Given the description of an element on the screen output the (x, y) to click on. 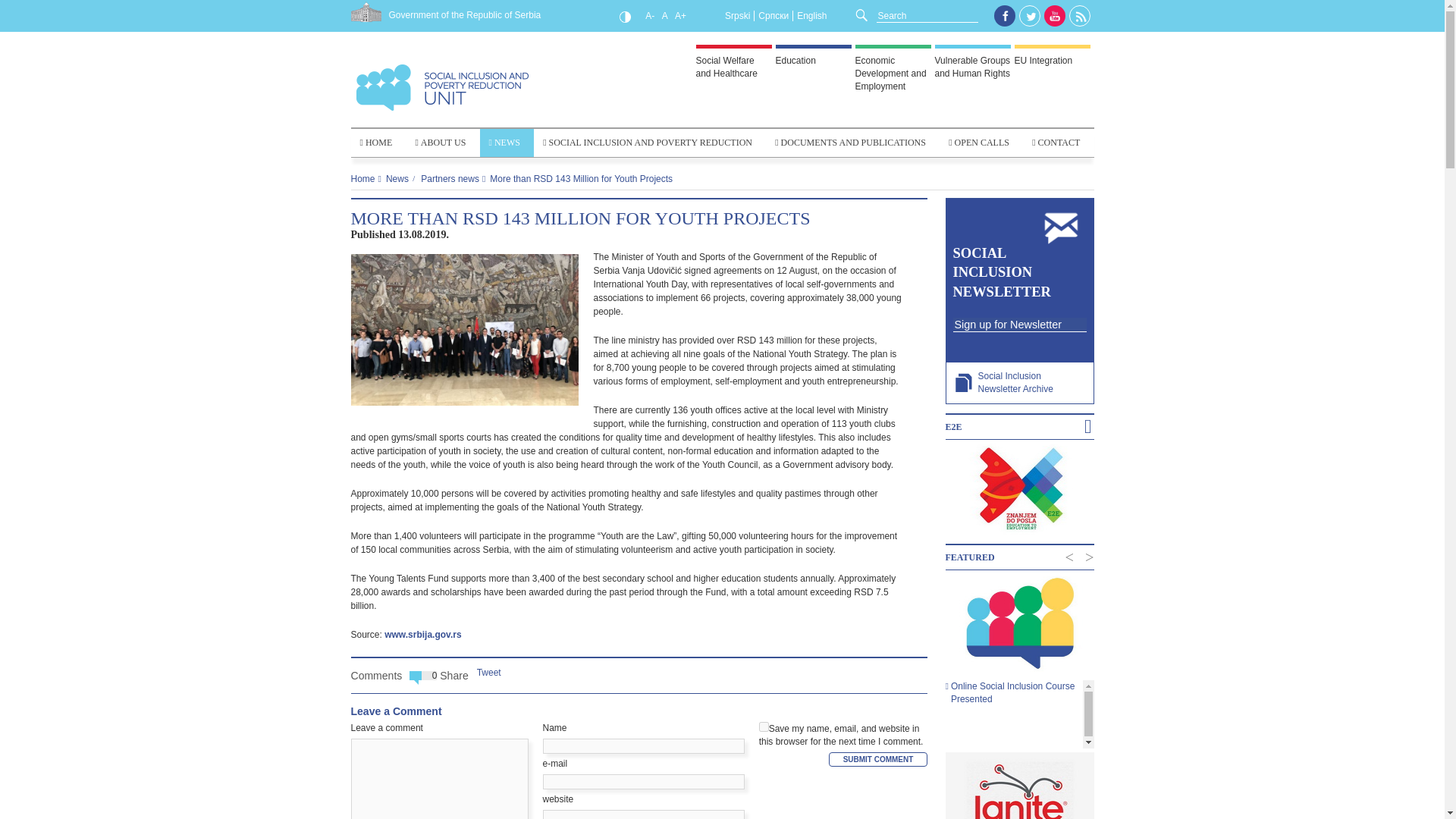
Facebook (1003, 15)
YouTube (1053, 15)
yes (763, 726)
English (811, 15)
Srpski (737, 15)
Education (794, 60)
Social Welfare and Healthcare (726, 66)
Twitter (1030, 16)
RSS (1079, 16)
HOME (378, 142)
NEWS (507, 142)
More than RSD 143 Million for Youth Projects (579, 218)
ABOUT US (442, 142)
Government of the Republic of Serbia (445, 14)
EU Integration (1043, 60)
